Given the description of an element on the screen output the (x, y) to click on. 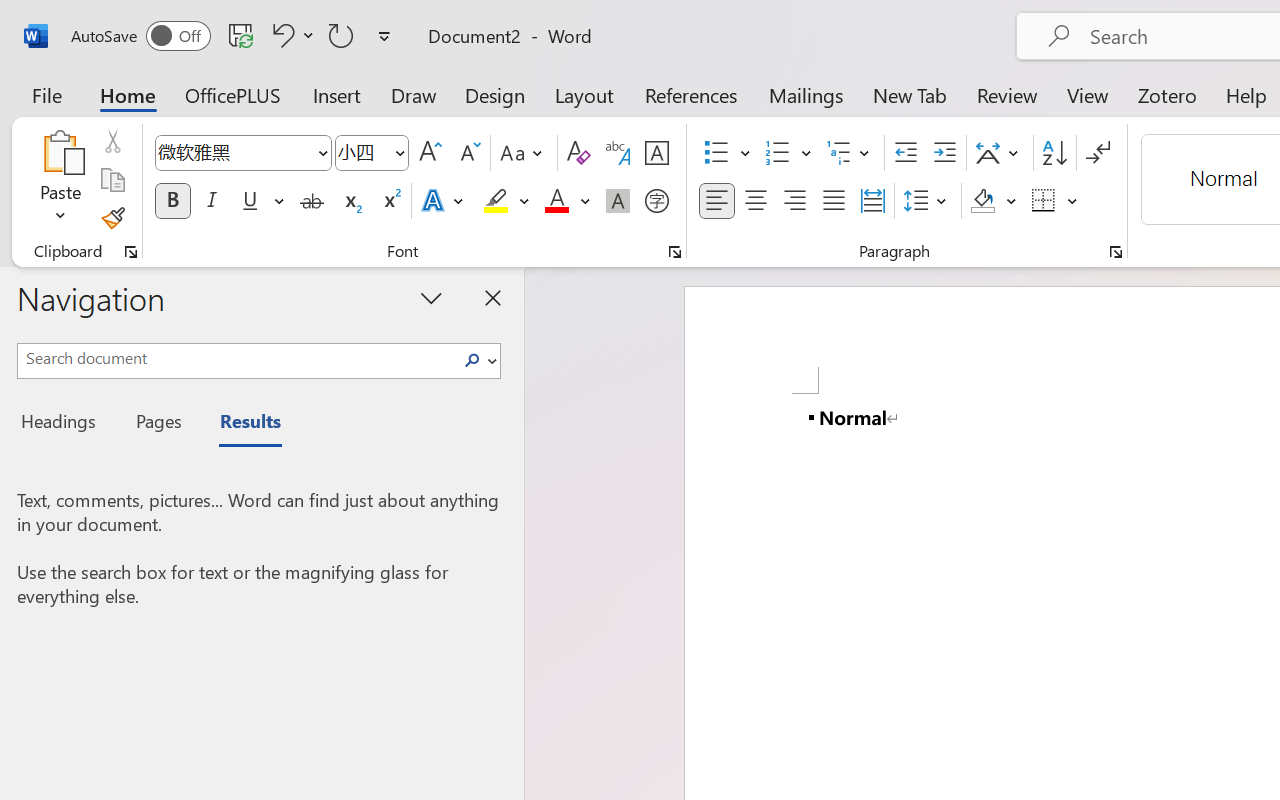
Search (478, 360)
Quick Access Toolbar (233, 36)
Subscript (350, 201)
Search (471, 360)
Open (399, 152)
Justify (834, 201)
Sort... (1054, 153)
Change Case (524, 153)
Show/Hide Editing Marks (1098, 153)
Draw (413, 94)
Increase Indent (944, 153)
Text Highlight Color Yellow (495, 201)
Italic (212, 201)
Font... (675, 252)
Mailings (806, 94)
